Given the description of an element on the screen output the (x, y) to click on. 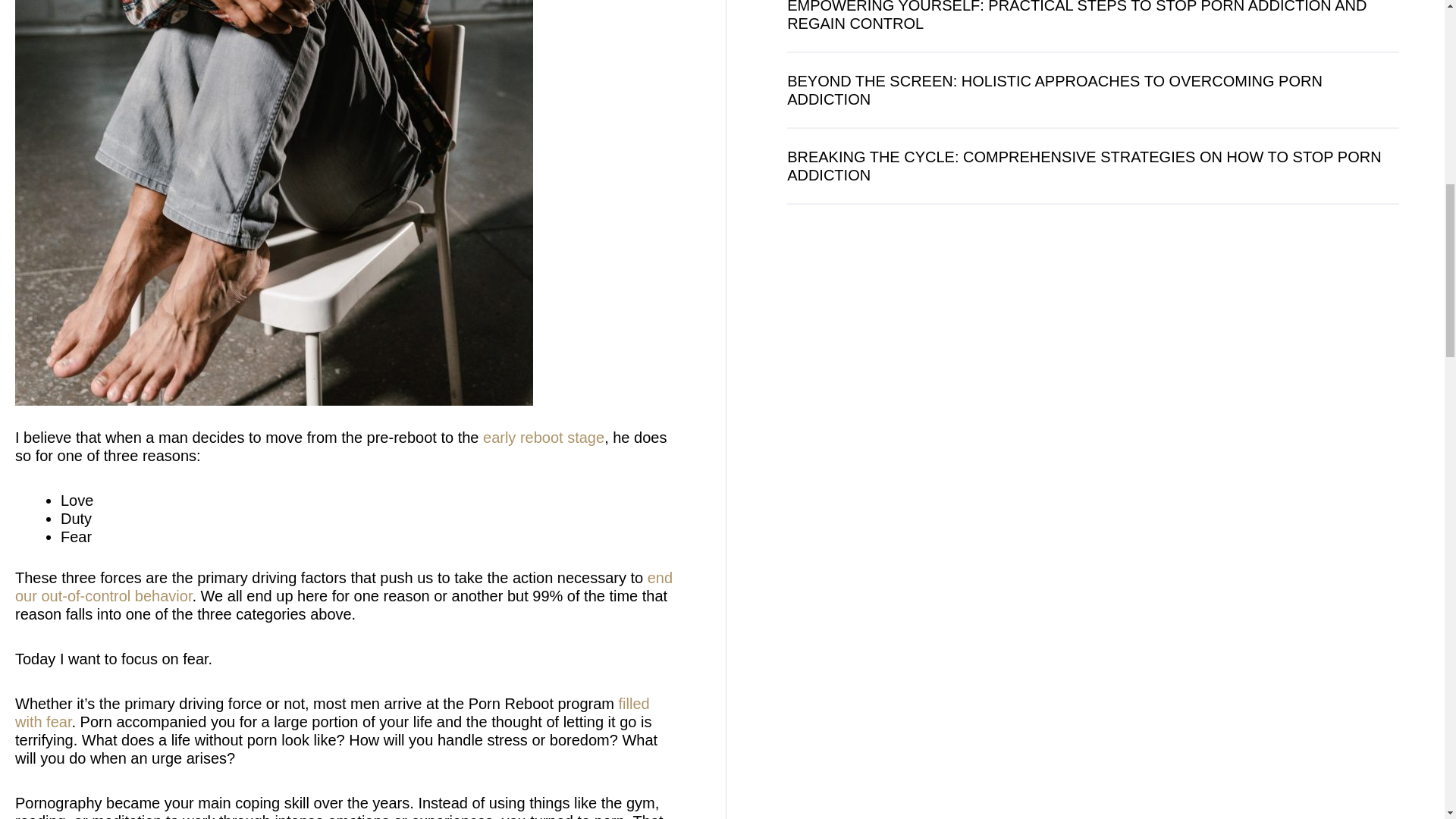
filled with fear (331, 712)
early reboot stage (543, 437)
end our out-of-control behavior (343, 586)
